Given the description of an element on the screen output the (x, y) to click on. 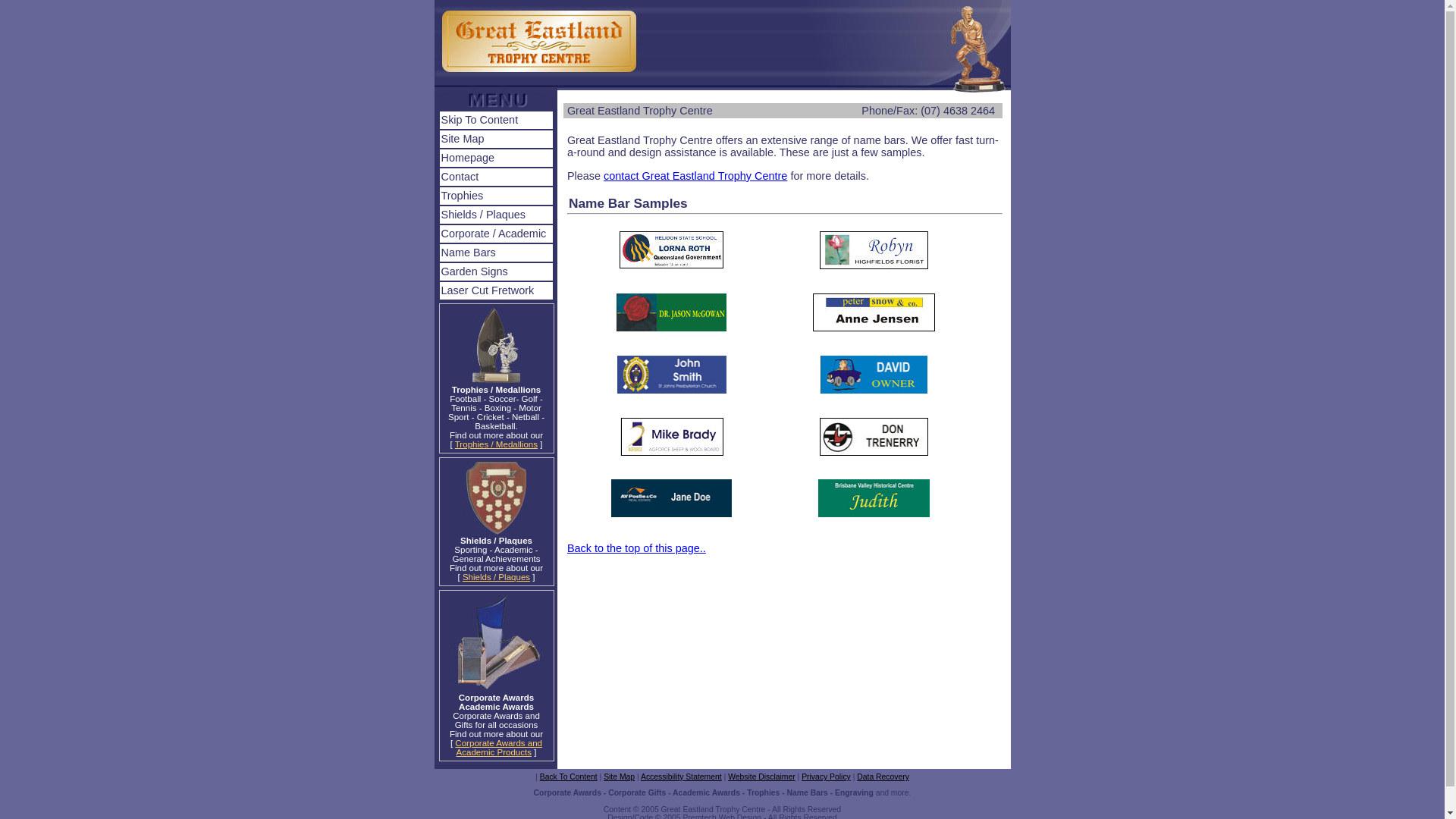
Skip To Content Element type: text (495, 119)
Garden Signs Element type: text (495, 271)
Great Eastland Trophy Centre Element type: text (639, 110)
Contact Element type: text (495, 176)
Corporate / Academic Element type: text (495, 233)
Site Map Element type: text (495, 138)
Trophies Element type: text (495, 195)
Shields / Plaques Element type: text (495, 214)
Site Map Element type: text (618, 776)
Laser Cut Fretwork Element type: text (495, 290)
Back to the top of this page.. Element type: text (636, 548)
Website Disclaimer Element type: text (761, 776)
Name Bars Element type: text (495, 252)
Accessibility Statement Element type: text (680, 776)
Shields / Plaques Element type: text (496, 576)
Privacy Policy Element type: text (825, 776)
Corporate Awards and Academic Products Element type: text (498, 747)
Data Recovery Element type: text (882, 776)
Trophies / Medallions Element type: text (496, 443)
Back To Content Element type: text (568, 776)
Homepage Element type: text (495, 157)
contact Great Eastland Trophy Centre Element type: text (695, 175)
